Given the description of an element on the screen output the (x, y) to click on. 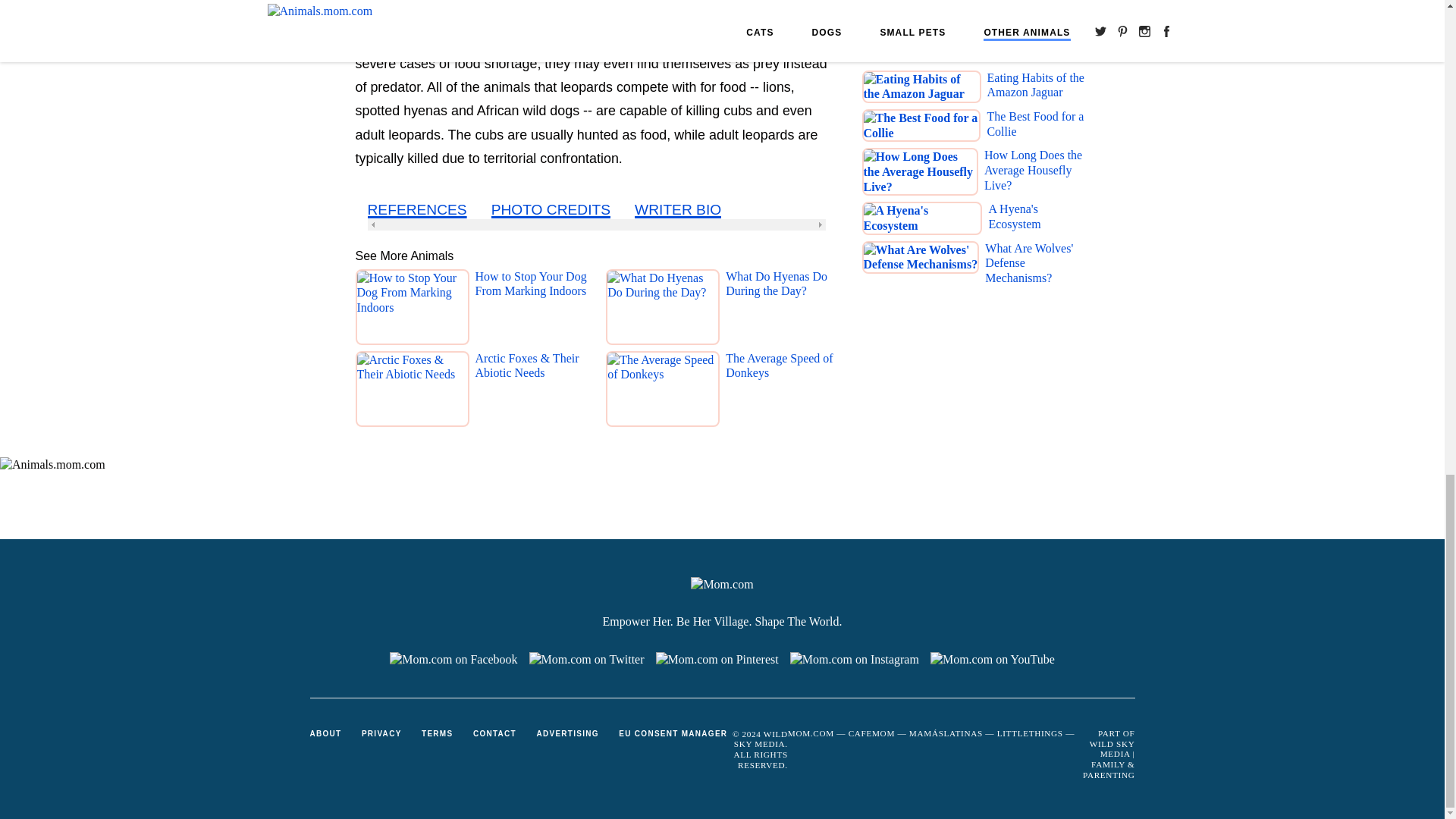
The Average Speed of Donkeys (781, 392)
What Do Hyenas Do During the Day? (781, 310)
How to Stop Your Dog From Marking Indoors (530, 310)
